Given the description of an element on the screen output the (x, y) to click on. 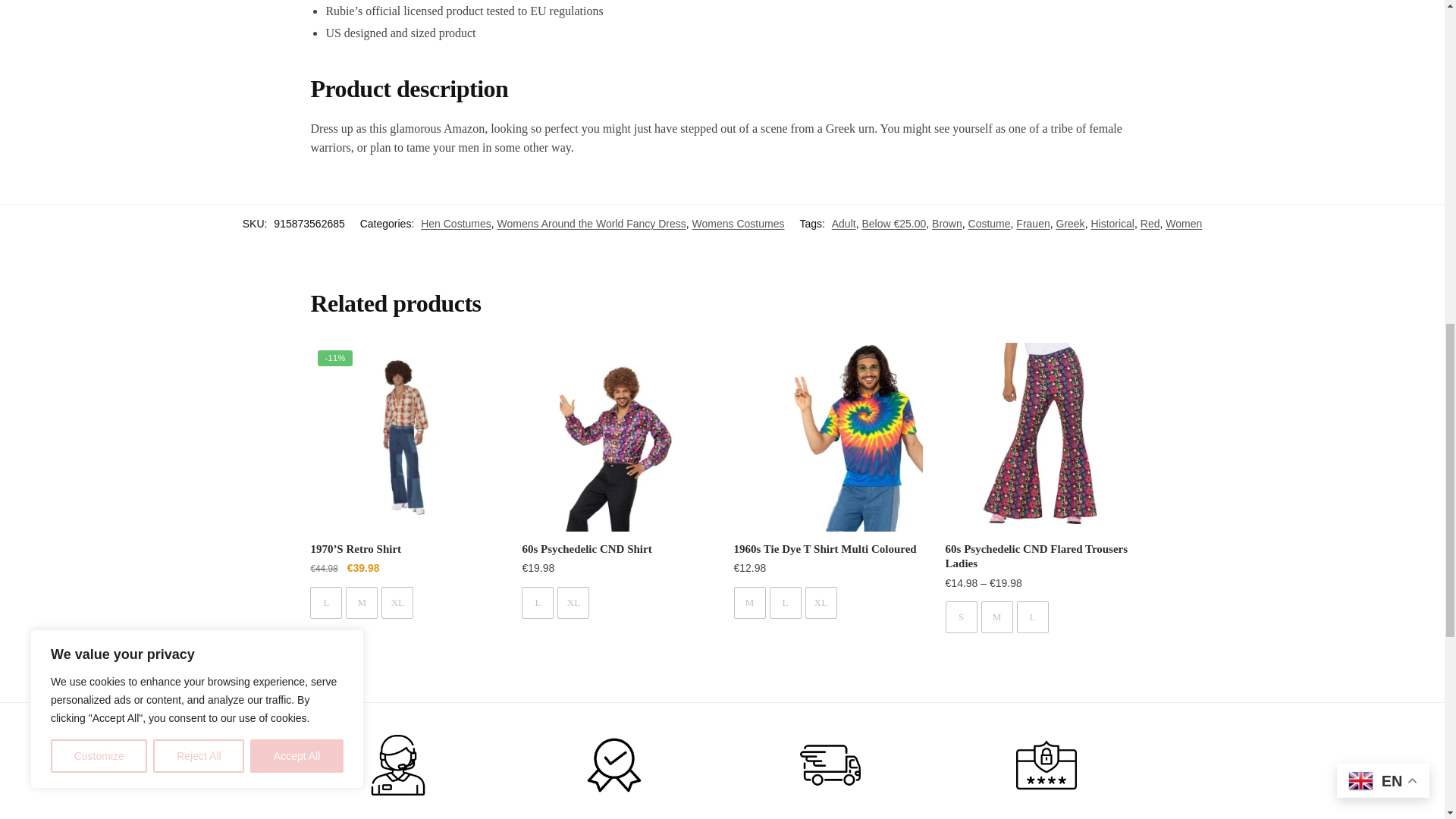
XL (397, 603)
M (361, 603)
L (326, 603)
60s Psychedelic CND Shirt (615, 437)
